Given the description of an element on the screen output the (x, y) to click on. 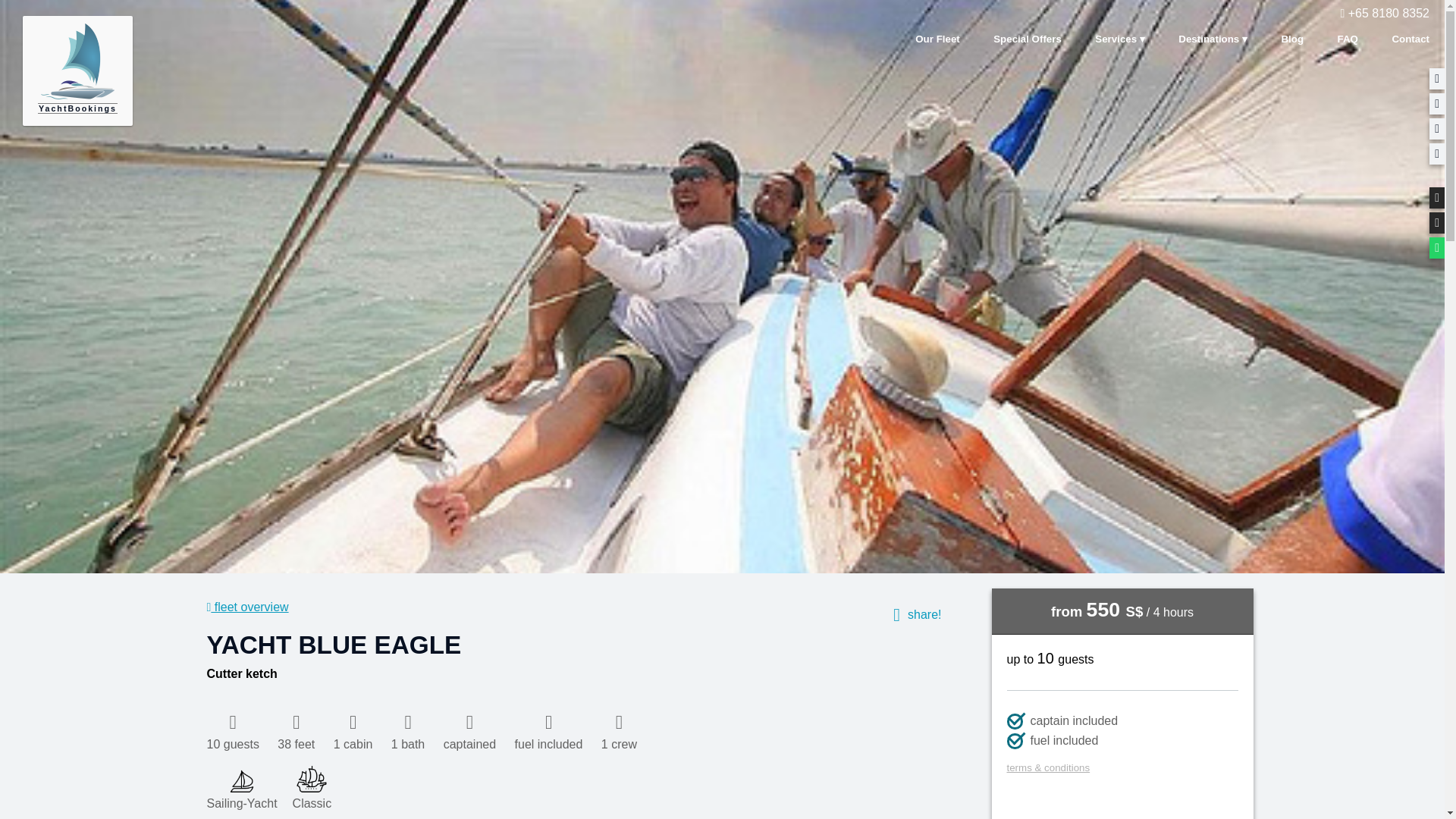
Special Offers (1027, 38)
FAQ (1347, 38)
Sailing-Yacht (241, 786)
Blog (1292, 38)
YachtBookings (77, 70)
Our Fleet (937, 38)
